Given the description of an element on the screen output the (x, y) to click on. 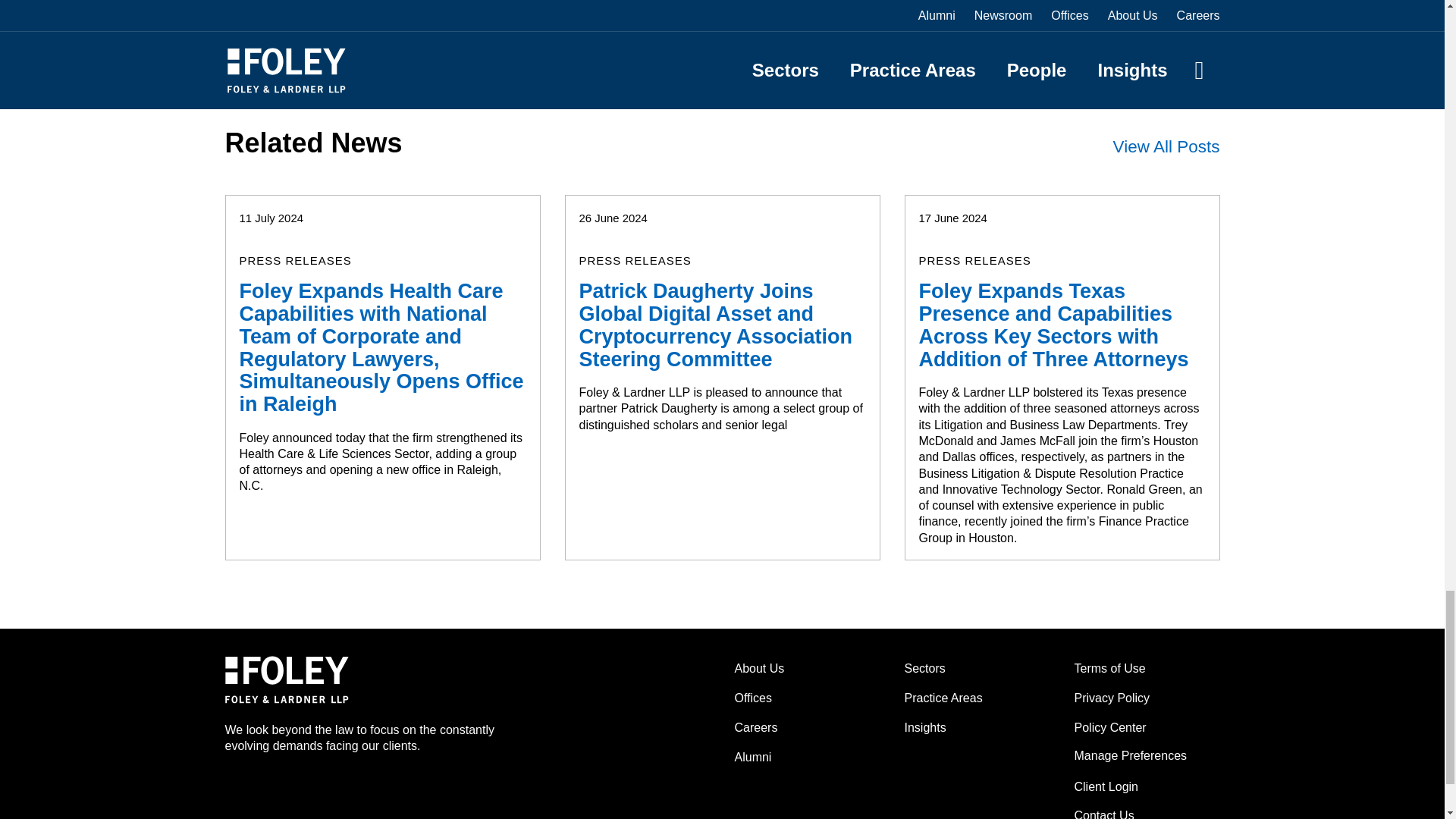
608.258.4269 (272, 49)
View All Posts (1166, 146)
